Given the description of an element on the screen output the (x, y) to click on. 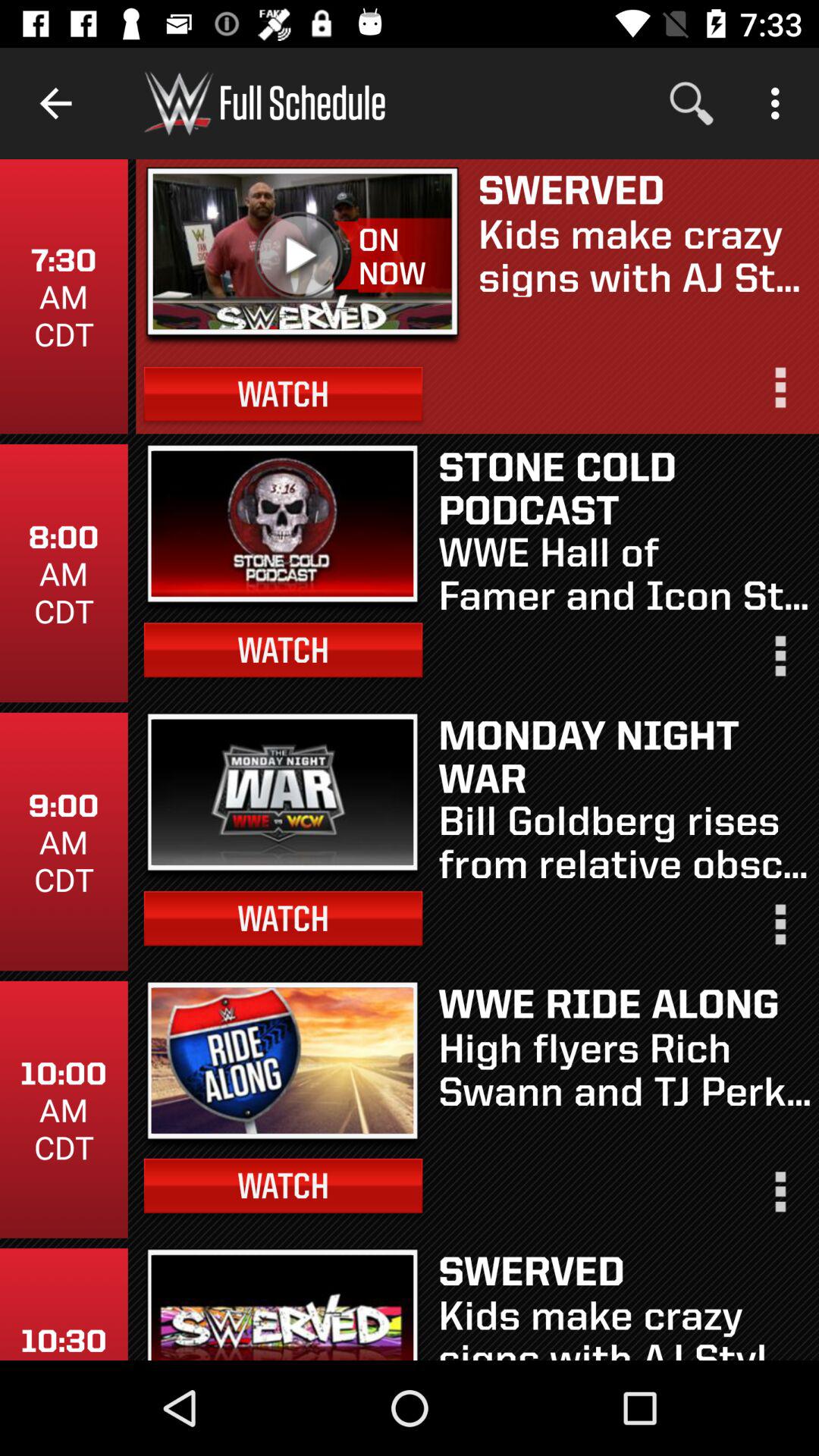
load more (779, 930)
